Given the description of an element on the screen output the (x, y) to click on. 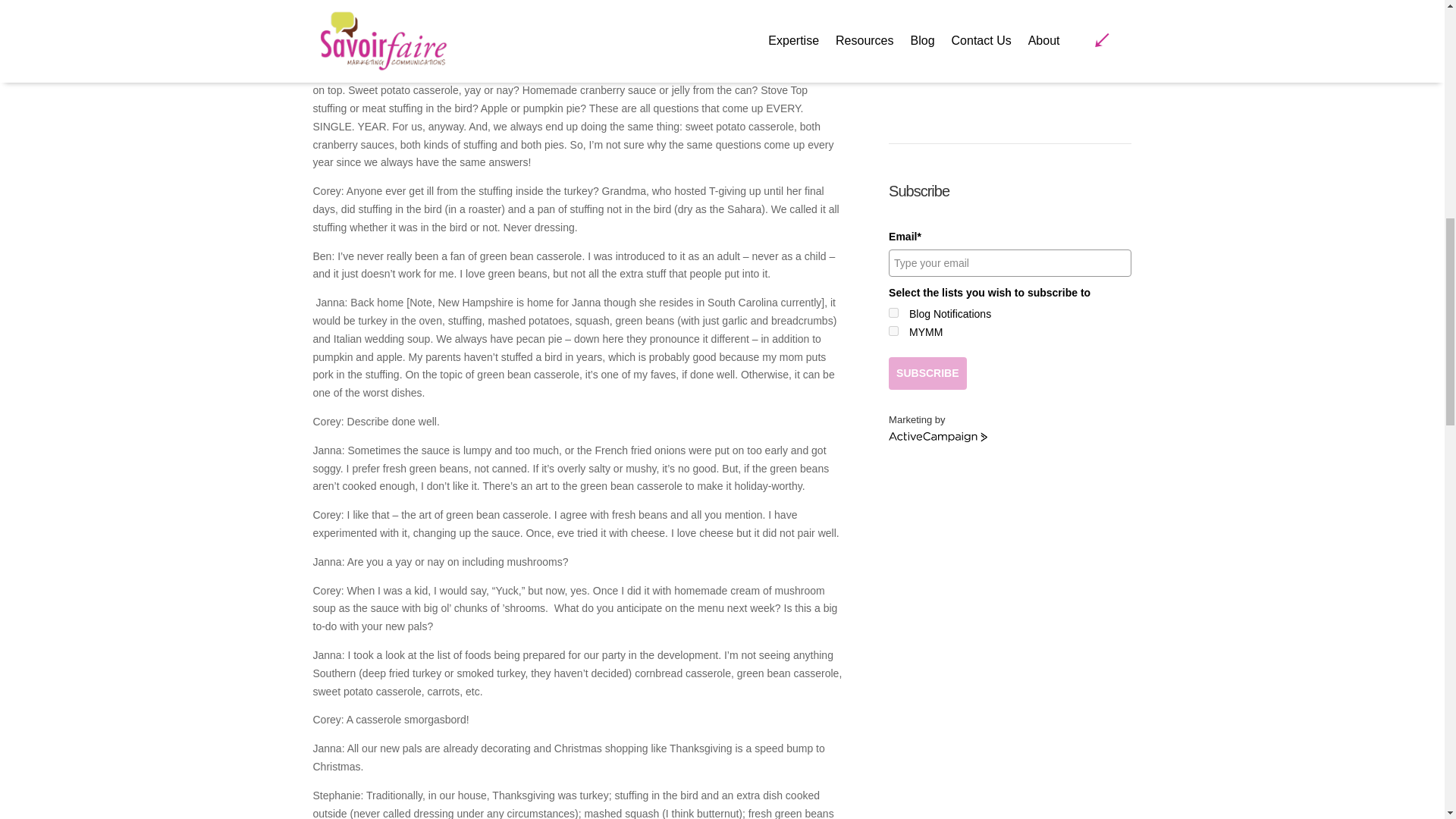
2 (893, 330)
4 (893, 312)
